Given the description of an element on the screen output the (x, y) to click on. 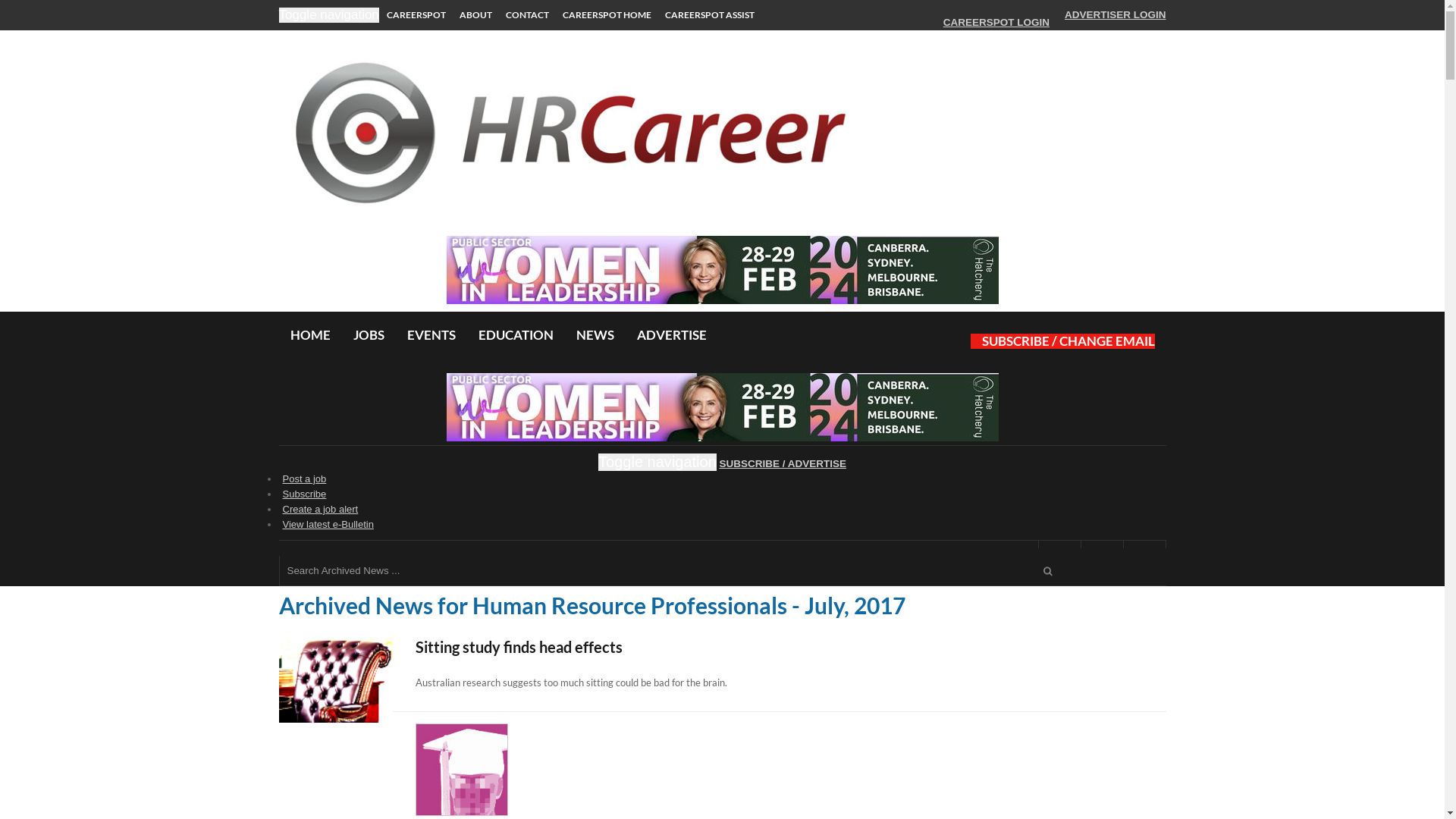
SUBSCRIBE / CHANGE EMAIL Element type: text (1062, 340)
CONTACT Element type: text (527, 14)
Sitting study finds head effects Element type: text (722, 646)
ABOUT Element type: text (475, 14)
EDUCATION Element type: text (514, 334)
Create a job alert Element type: text (319, 508)
Toggle navigation Element type: text (329, 14)
Search Element type: text (1047, 571)
HOME Element type: text (309, 334)
ADVERTISE Element type: text (671, 334)
Subscribe Element type: text (304, 493)
ADVERTISER LOGIN Element type: text (1113, 14)
SUBSCRIBE / ADVERTISE Element type: text (782, 463)
NEWS Element type: text (595, 334)
Toggle navigation Element type: text (657, 461)
CAREERSPOT HOME Element type: text (606, 14)
CAREERSPOT LOGIN Element type: text (994, 22)
View latest e-Bulletin Element type: text (327, 524)
JOBS Element type: text (368, 334)
EVENTS Element type: text (430, 334)
CAREERSPOT ASSIST Element type: text (709, 14)
CAREERSPOT Element type: text (415, 14)
Post a job Element type: text (304, 478)
